Given the description of an element on the screen output the (x, y) to click on. 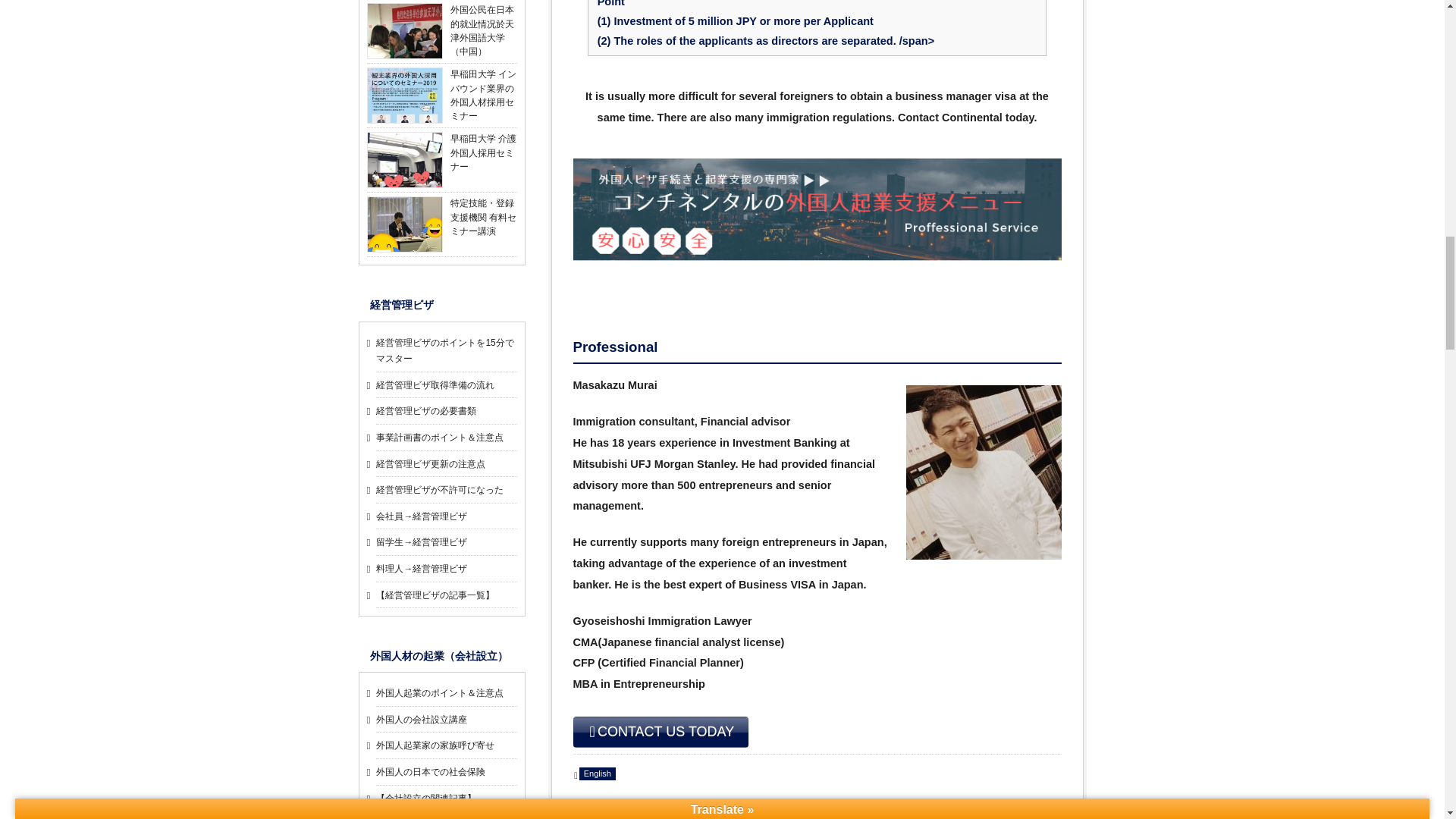
Tweet (1002, 800)
English (597, 773)
CONTACT US TODAY (661, 731)
